Given the description of an element on the screen output the (x, y) to click on. 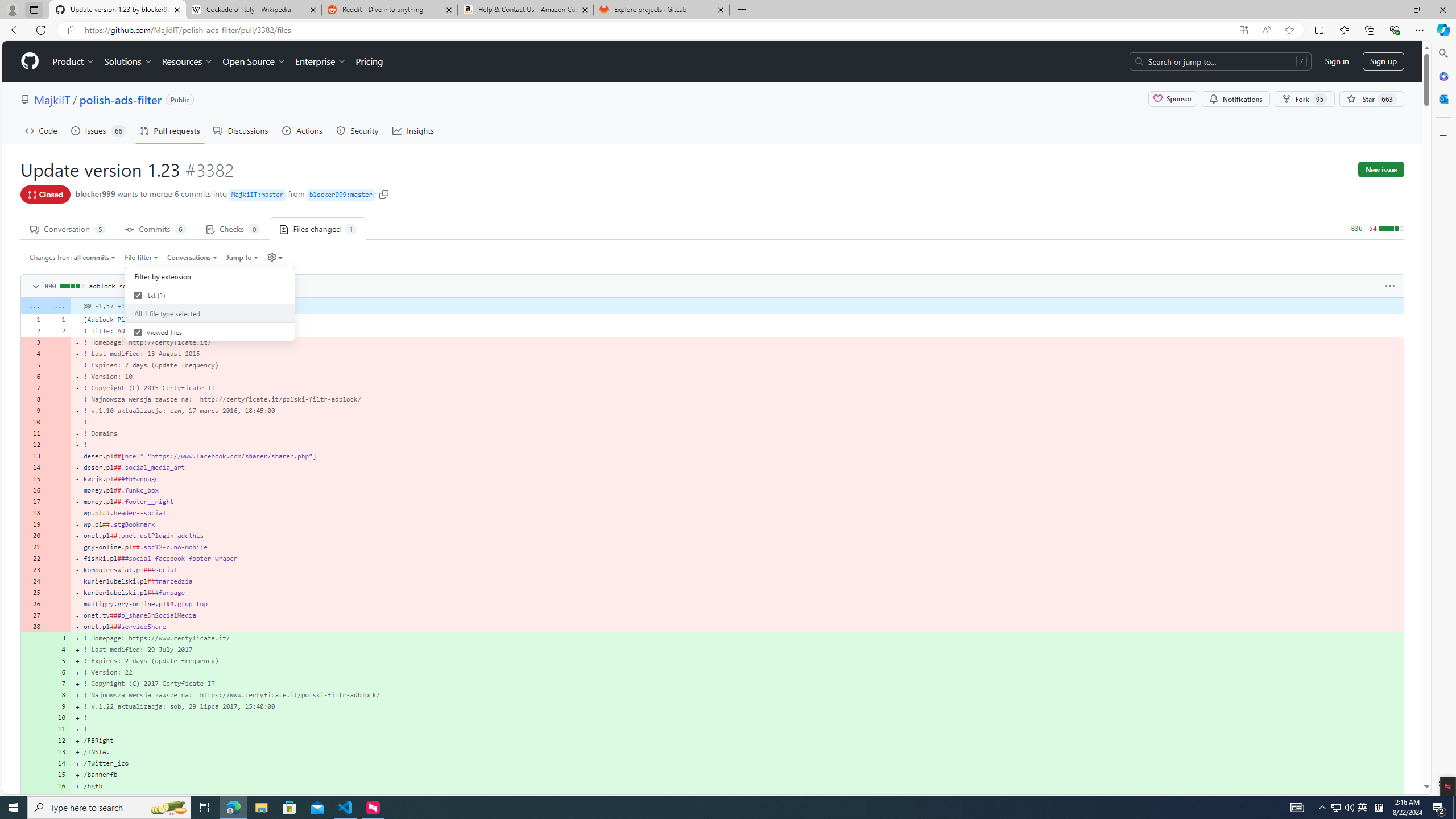
- kwejk.pl###fbfanpage (737, 478)
Enterprise (319, 60)
- onet.pl##.onet_ustPlugin_addthis (737, 535)
+ /bgfb  (737, 785)
24 (33, 581)
10 (58, 717)
 Star 663 (1371, 98)
Changes from all commits (72, 257)
+ /bannerfb  (737, 774)
+ ! Last modified: 29 July 2017 (737, 649)
polish-ads-filter (119, 99)
